Given the description of an element on the screen output the (x, y) to click on. 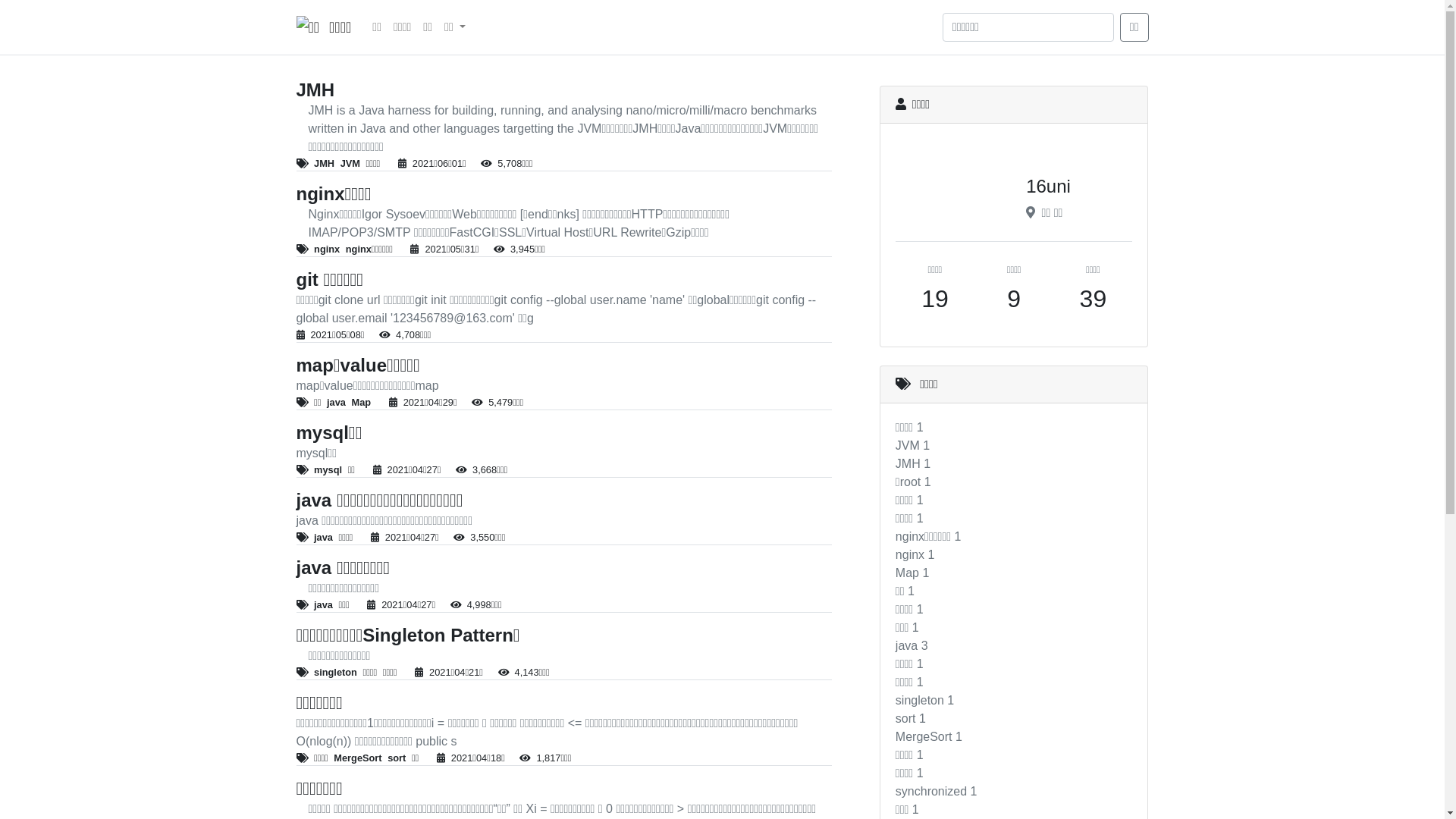
JMH Element type: text (557, 90)
sort Element type: text (396, 757)
java Element type: text (335, 401)
MergeSort 1 Element type: text (928, 736)
Map 1 Element type: text (911, 572)
synchronized 1 Element type: text (936, 790)
singleton Element type: text (335, 671)
JMH Element type: text (323, 163)
JMH 1 Element type: text (912, 463)
JVM Element type: text (350, 163)
nginx Element type: text (326, 248)
Map Element type: text (360, 401)
JVM 1 Element type: text (912, 445)
java Element type: text (322, 536)
java 3 Element type: text (911, 645)
singleton 1 Element type: text (924, 699)
java Element type: text (322, 604)
MergeSort Element type: text (357, 757)
sort 1 Element type: text (910, 718)
nginx 1 Element type: text (915, 554)
mysql Element type: text (327, 469)
